Given the description of an element on the screen output the (x, y) to click on. 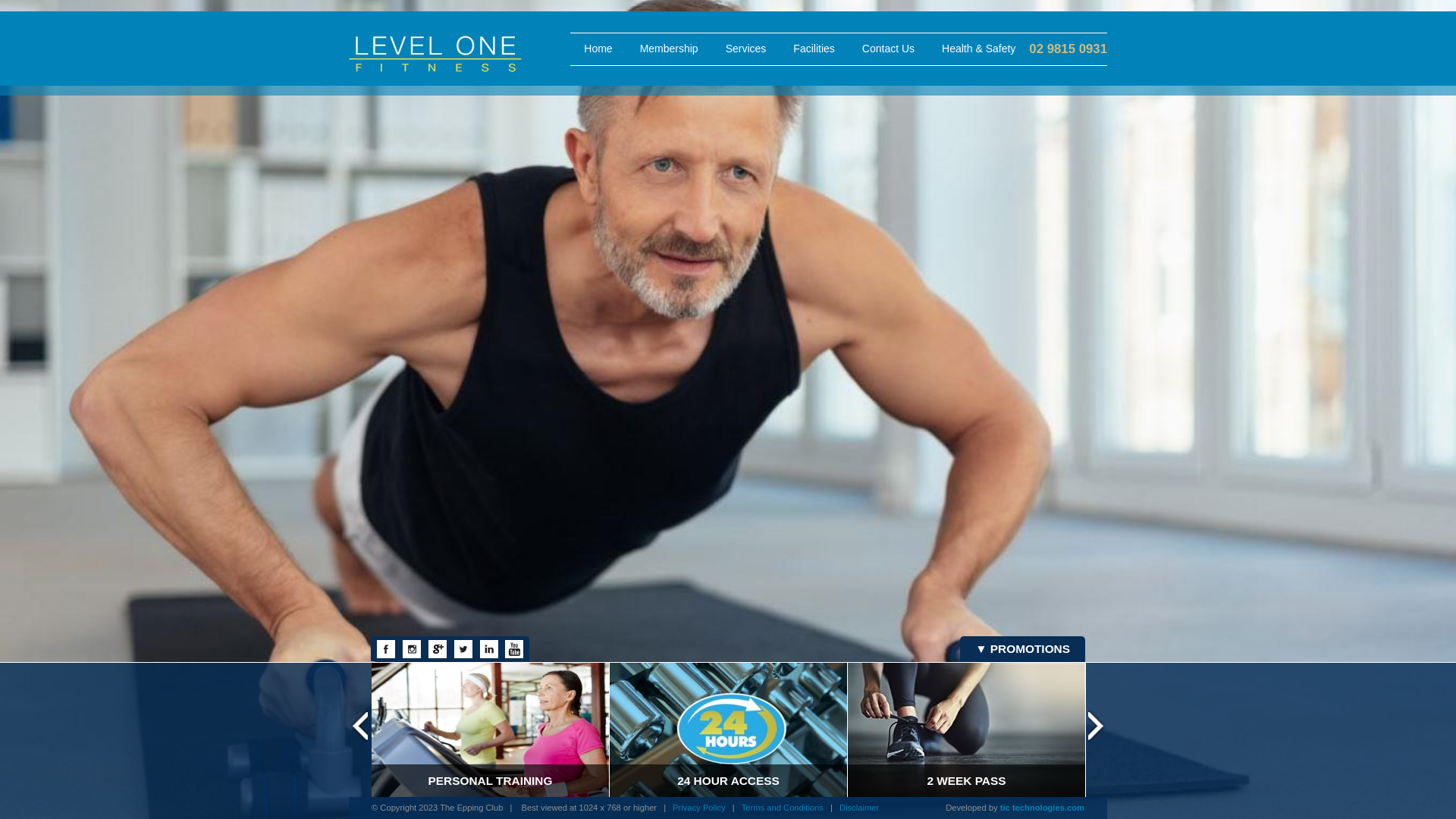
Facilities Element type: text (813, 49)
Terms and Conditions Element type: text (782, 807)
Home Element type: text (597, 49)
Health & Safety Element type: text (978, 49)
24 HOUR ACCESS Element type: text (728, 729)
Privacy Policy Element type: text (698, 807)
Disclaimer Element type: text (858, 807)
Membership Element type: text (669, 49)
tic technologies.com Element type: text (1042, 807)
PERSONAL TRAINING Element type: text (489, 729)
Services Element type: text (746, 49)
2 WEEK PASS Element type: text (966, 729)
Contact Us Element type: text (888, 49)
